Given the description of an element on the screen output the (x, y) to click on. 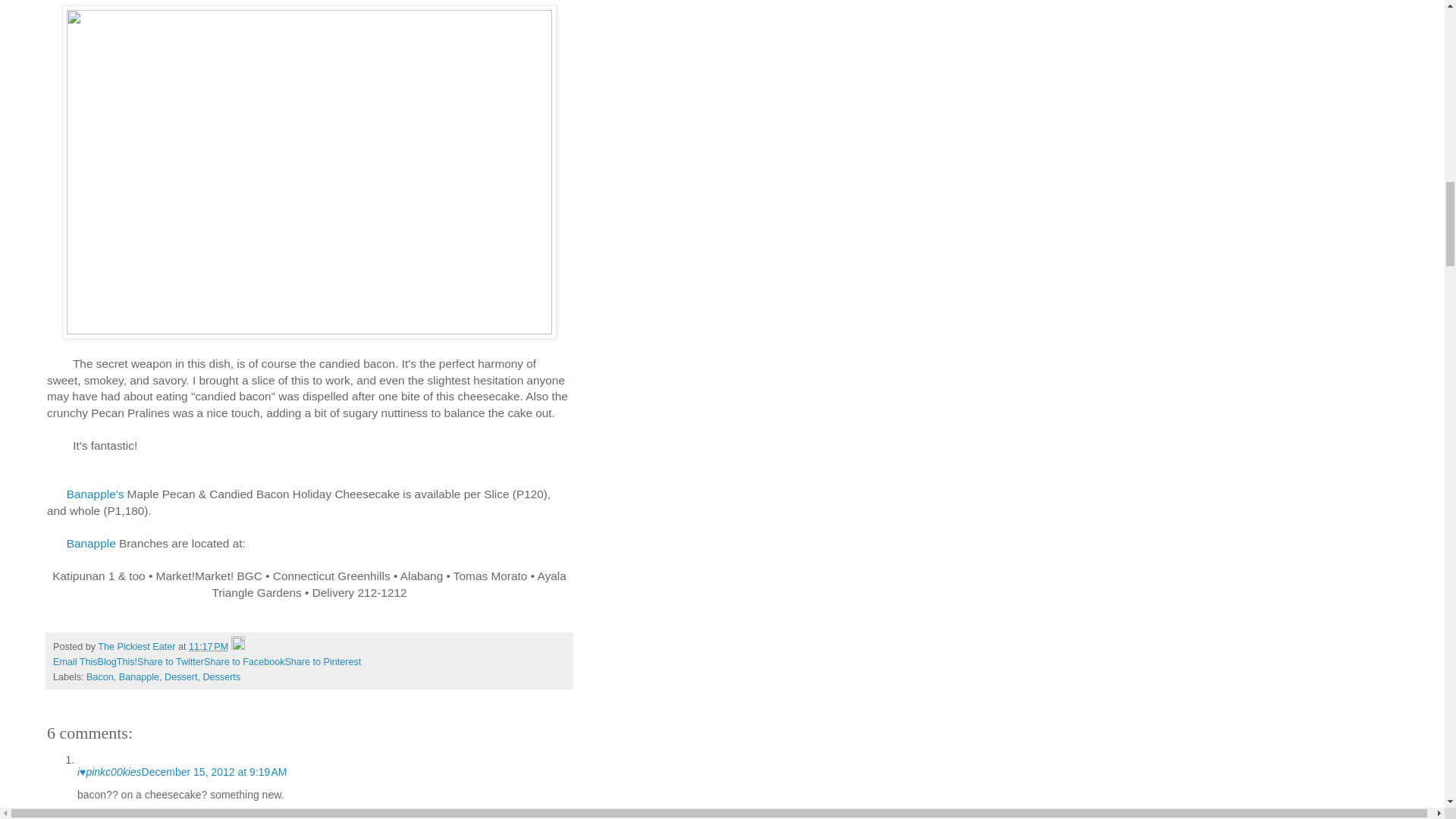
Share to Pinterest (322, 661)
Share to Twitter (169, 661)
permanent link (208, 646)
Desserts (221, 676)
Reply (90, 815)
Email This (74, 661)
Banapple (138, 676)
author profile (137, 646)
Banapple's (92, 493)
Dessert (180, 676)
Banapple (91, 543)
Email This (74, 661)
Delete (119, 815)
